Given the description of an element on the screen output the (x, y) to click on. 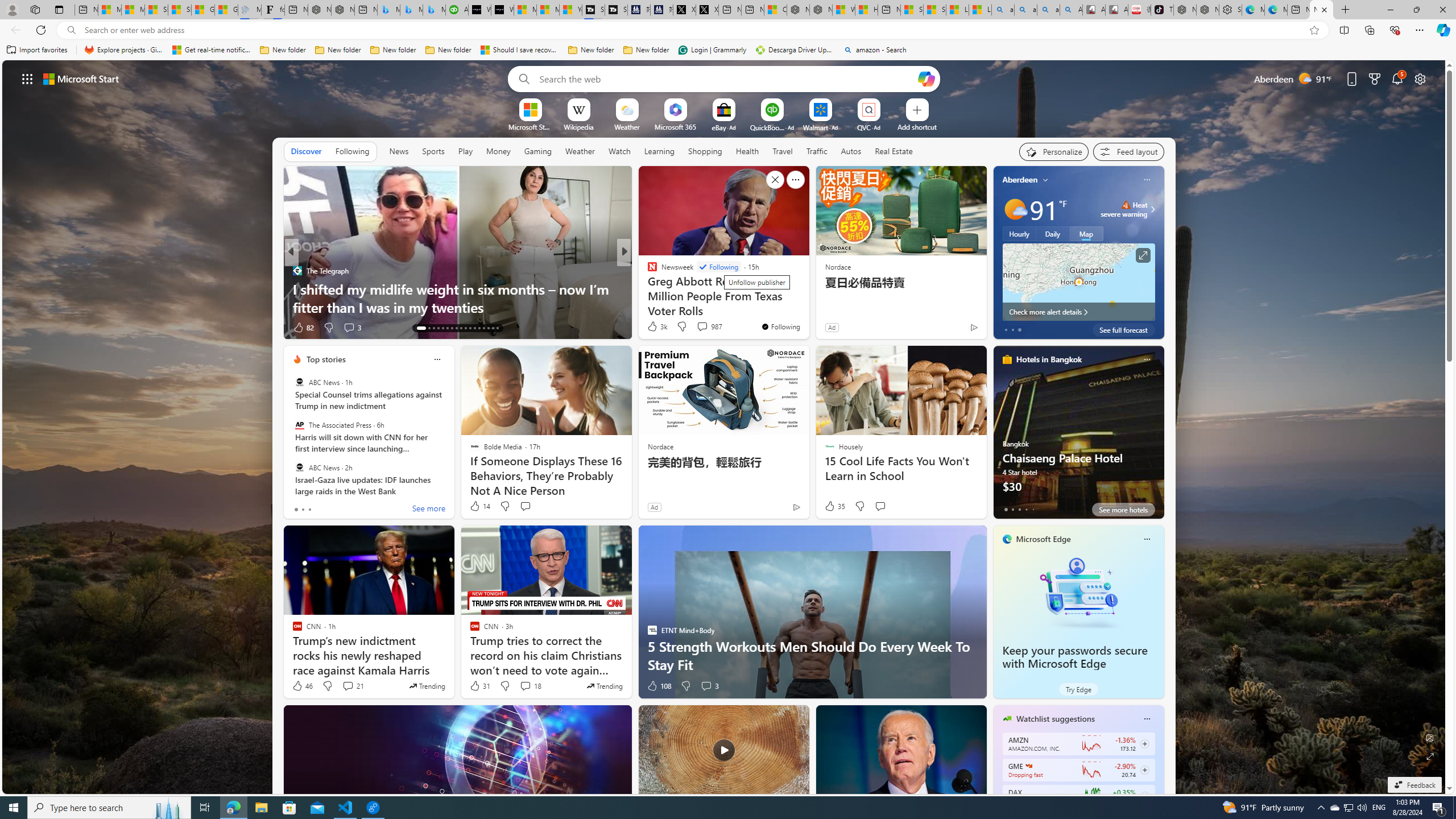
Hotels in Bangkok (1048, 359)
View comments 174 Comment (703, 327)
View comments 22 Comment (707, 327)
View comments 251 Comment (709, 327)
Add a site (916, 126)
Descarga Driver Updater (794, 49)
CBS News (Video) (647, 270)
You're following Newsweek (780, 326)
AutomationID: tab-15 (433, 328)
